Given the description of an element on the screen output the (x, y) to click on. 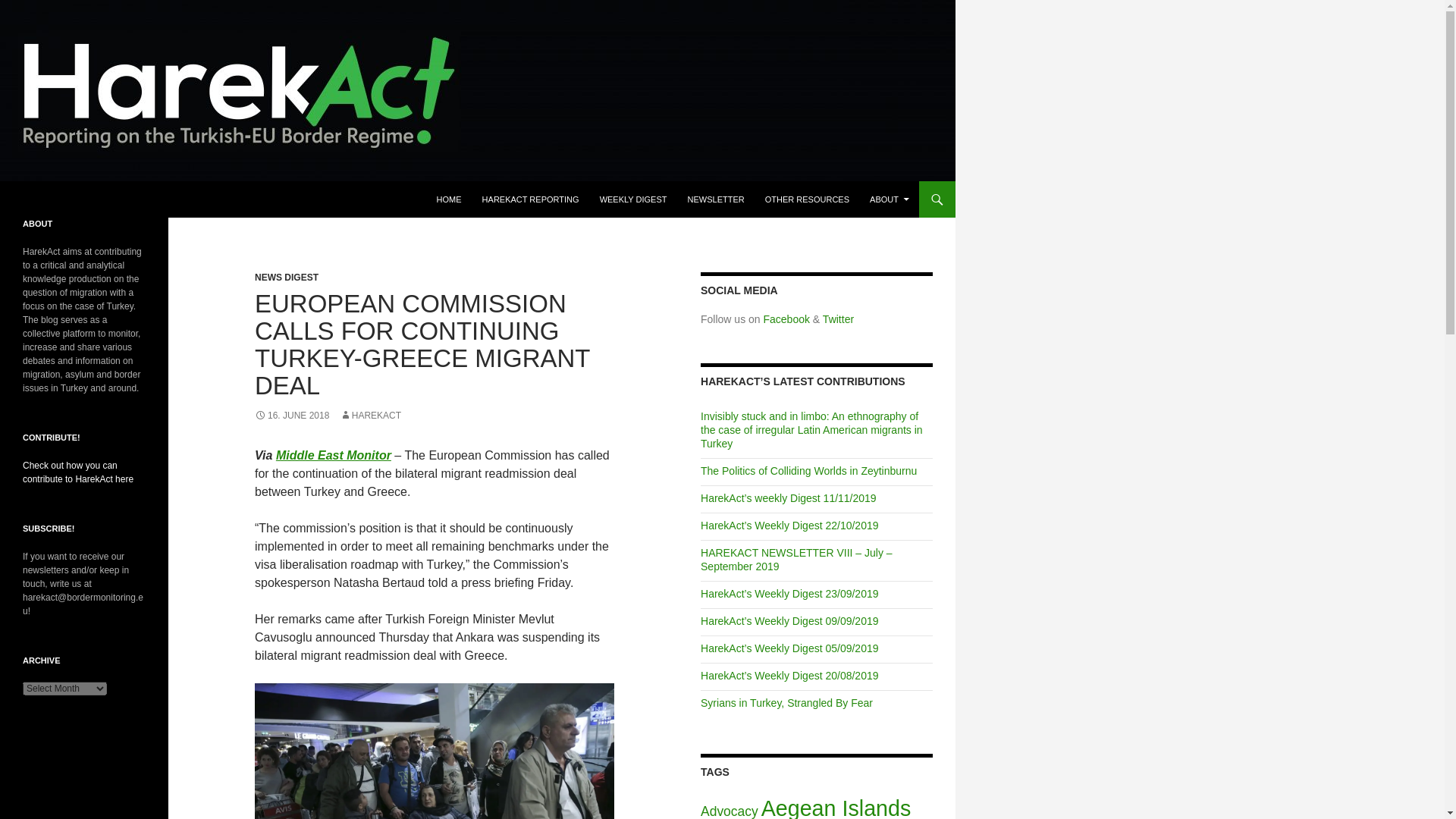
NEWS DIGEST (286, 276)
Twitter (837, 318)
HOME (449, 198)
16. JUNE 2018 (291, 415)
OTHER RESOURCES (807, 198)
Aegean Islands (836, 807)
WEEKLY DIGEST (634, 198)
The Politics of Colliding Worlds in Zeytinburnu (808, 470)
HAREKACT (370, 415)
